Given the description of an element on the screen output the (x, y) to click on. 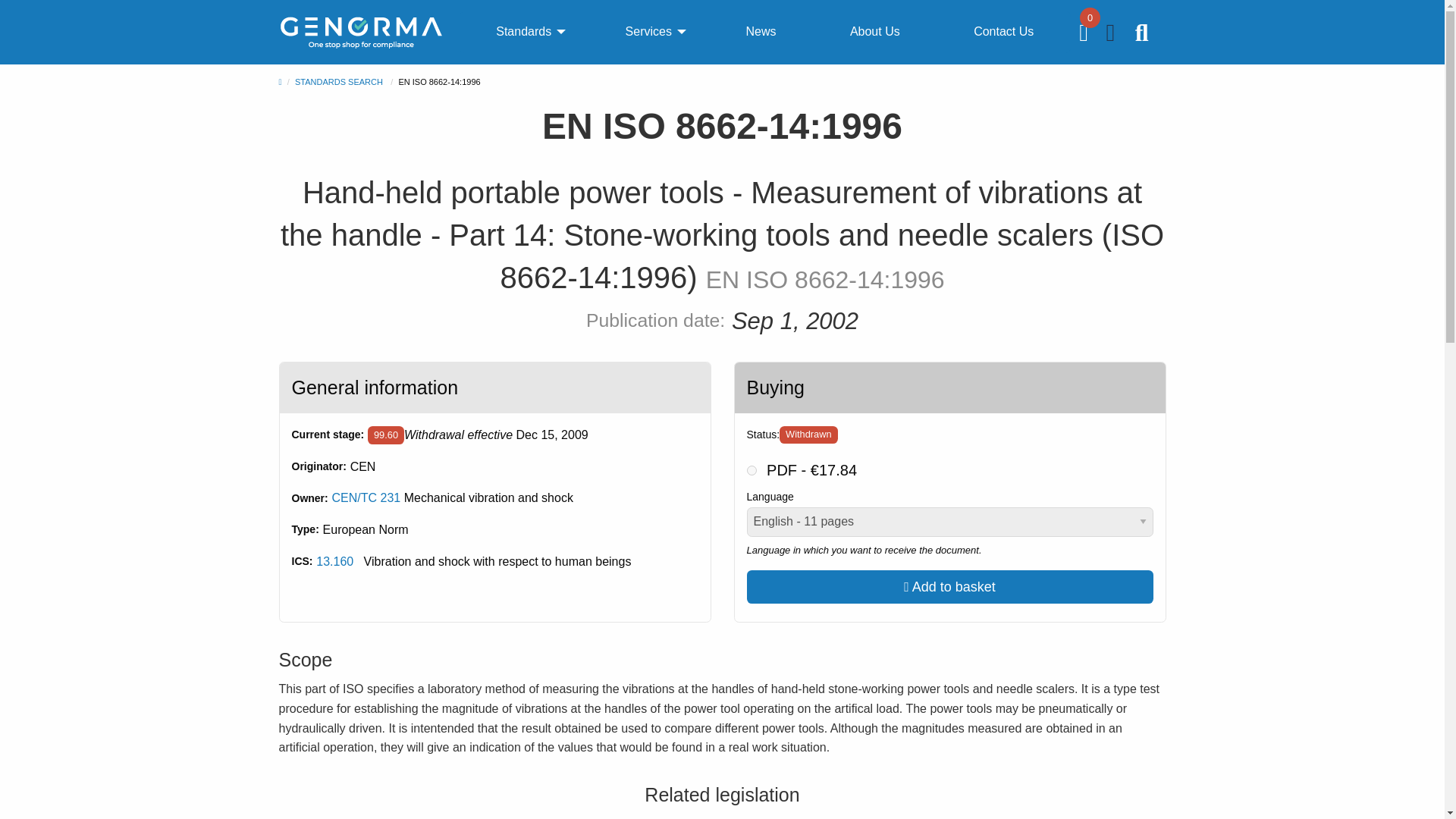
Effective date (551, 435)
1267 (750, 470)
Services (648, 32)
News (759, 32)
Contact Us (1003, 32)
Standards (523, 32)
About Us (874, 32)
STANDARDS SEARCH (338, 81)
13.160 (334, 561)
Withdrawal effective (386, 434)
